Given the description of an element on the screen output the (x, y) to click on. 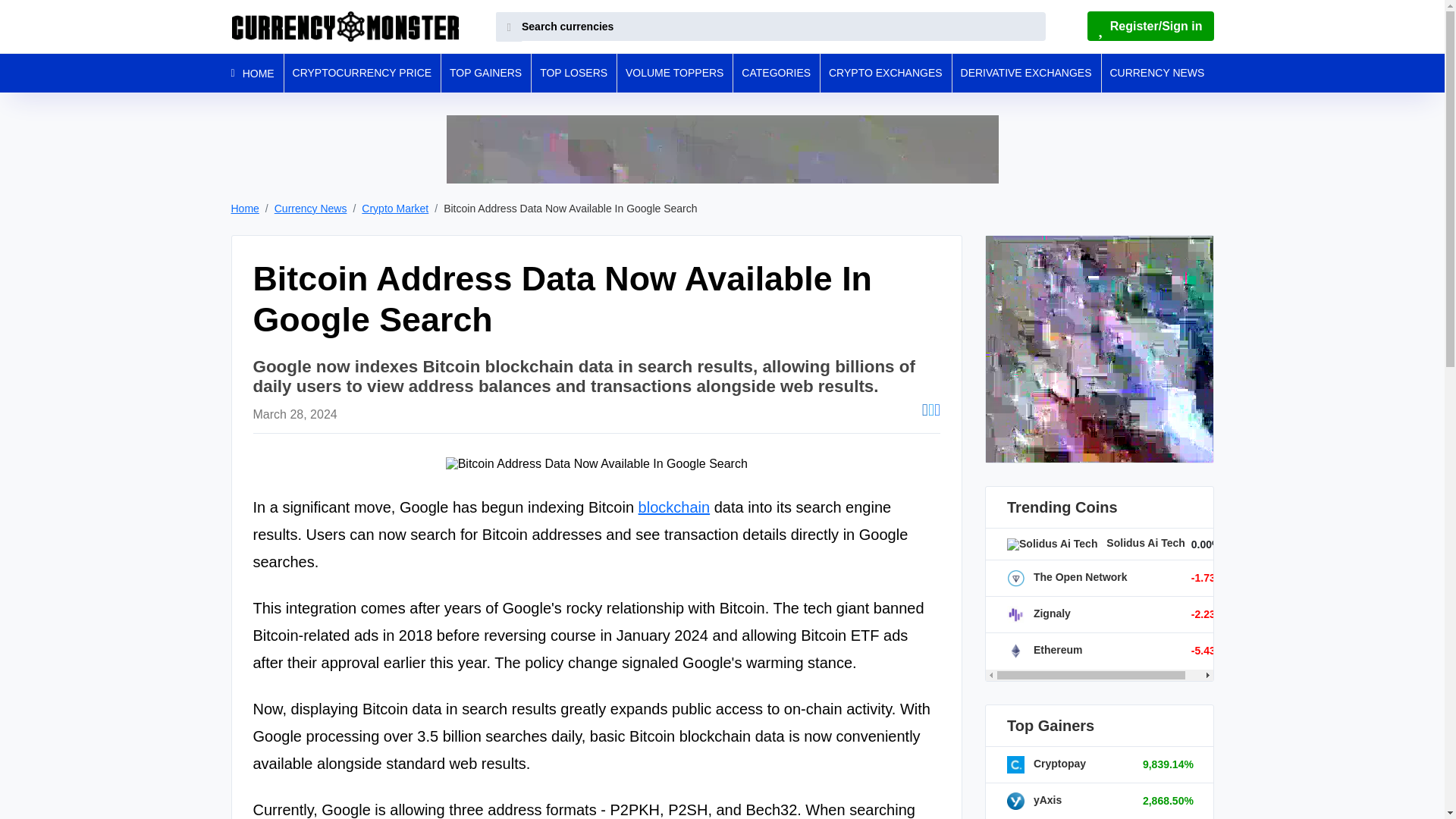
blockchain (674, 506)
CRYPTOCURRENCY PRICE (363, 72)
CATEGORIES (777, 72)
Cryptopay (1046, 763)
Home (244, 208)
Crypto Market (394, 208)
Currency News (311, 208)
HOME (256, 73)
CURRENCY NEWS (1157, 72)
yAxis (1034, 799)
TOP GAINERS (487, 72)
Solidus Ai Tech (1096, 542)
The Open Network (1066, 576)
Ethereum (1044, 649)
Zignaly (1038, 613)
